Given the description of an element on the screen output the (x, y) to click on. 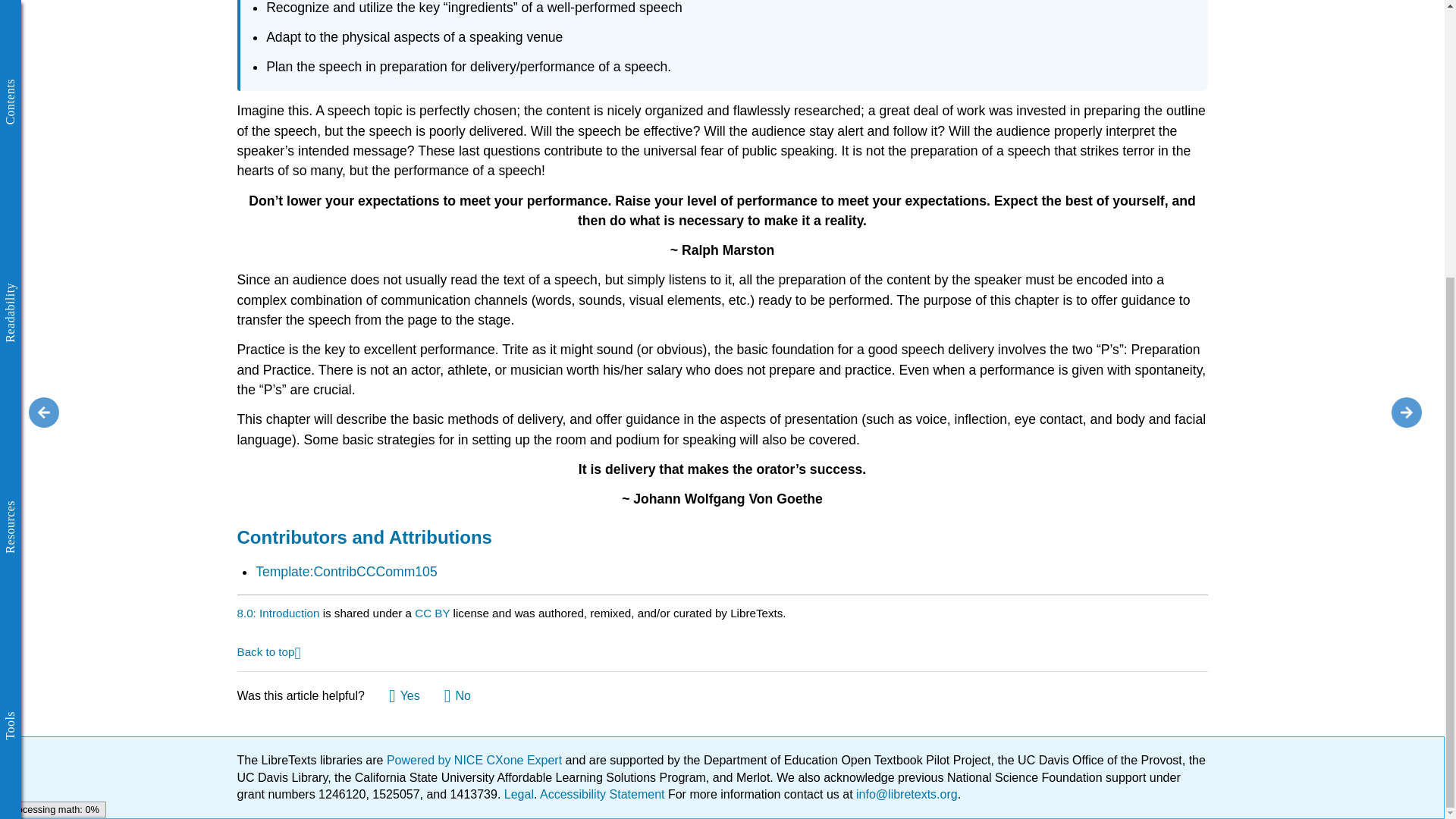
Jump back to top of this article (267, 651)
